Given the description of an element on the screen output the (x, y) to click on. 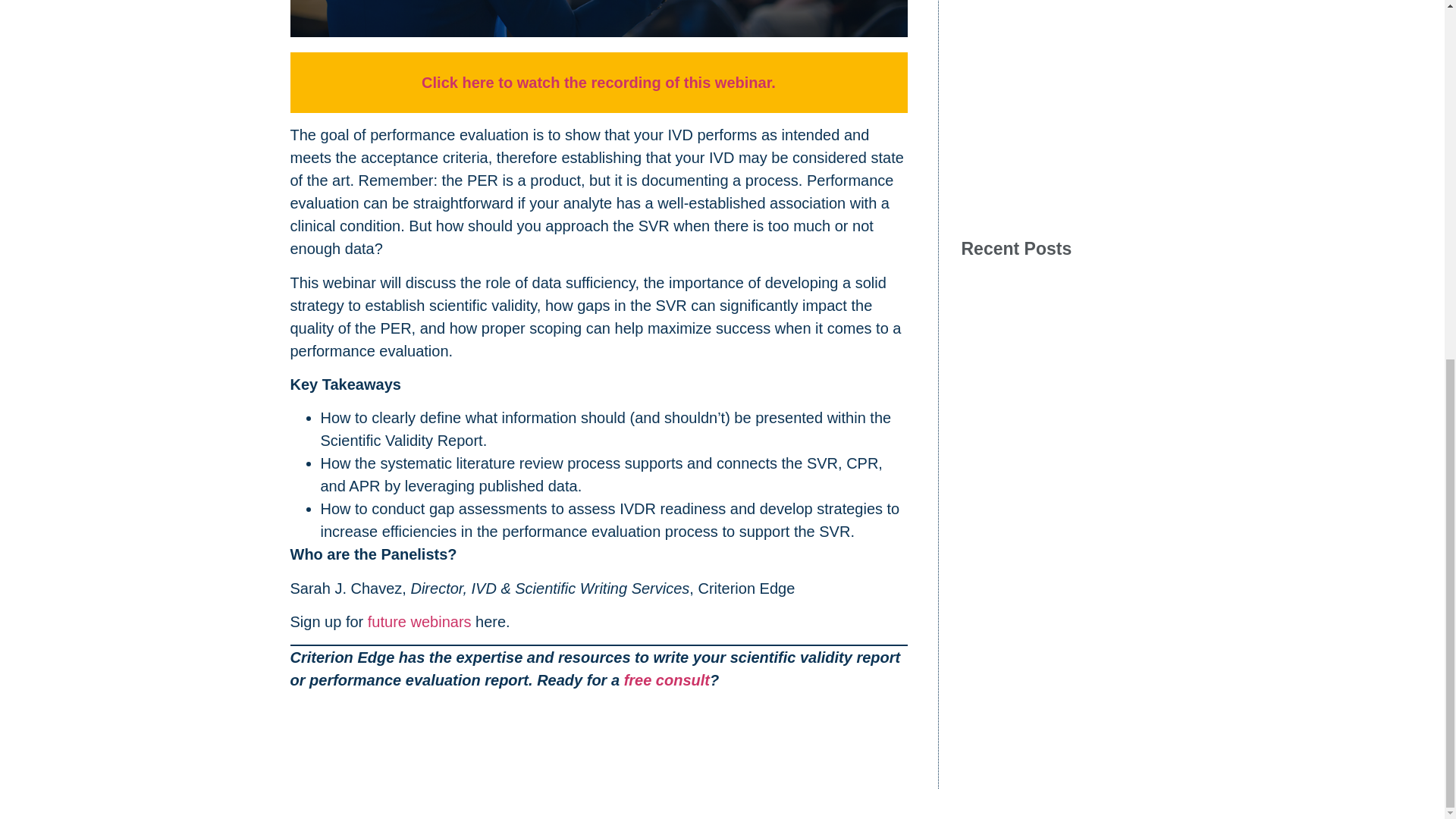
free consult (667, 679)
Click here to watch the recording of this webinar. (599, 82)
future webinars (422, 621)
